Given the description of an element on the screen output the (x, y) to click on. 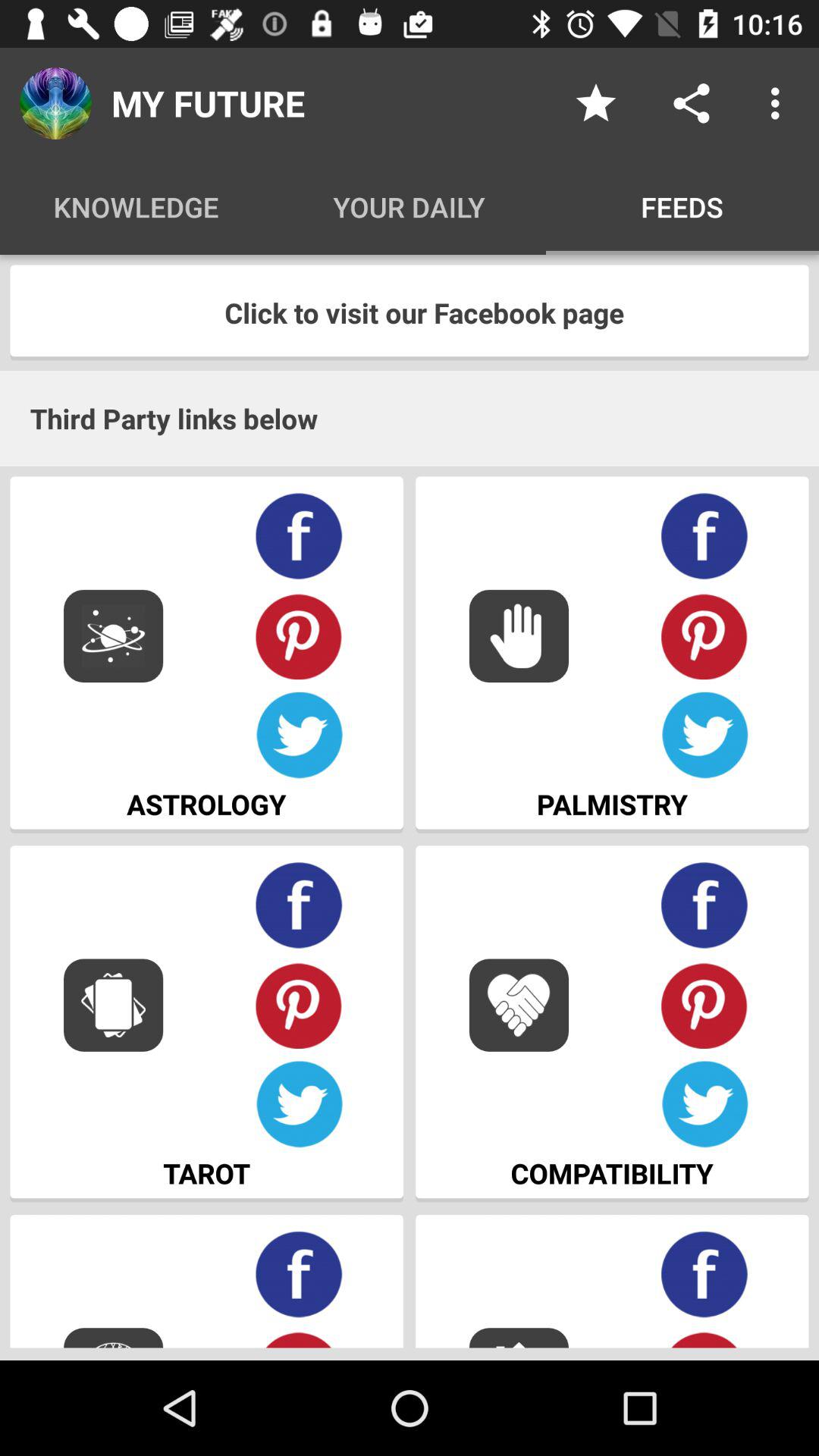
share via pinterest (299, 635)
